Given the description of an element on the screen output the (x, y) to click on. 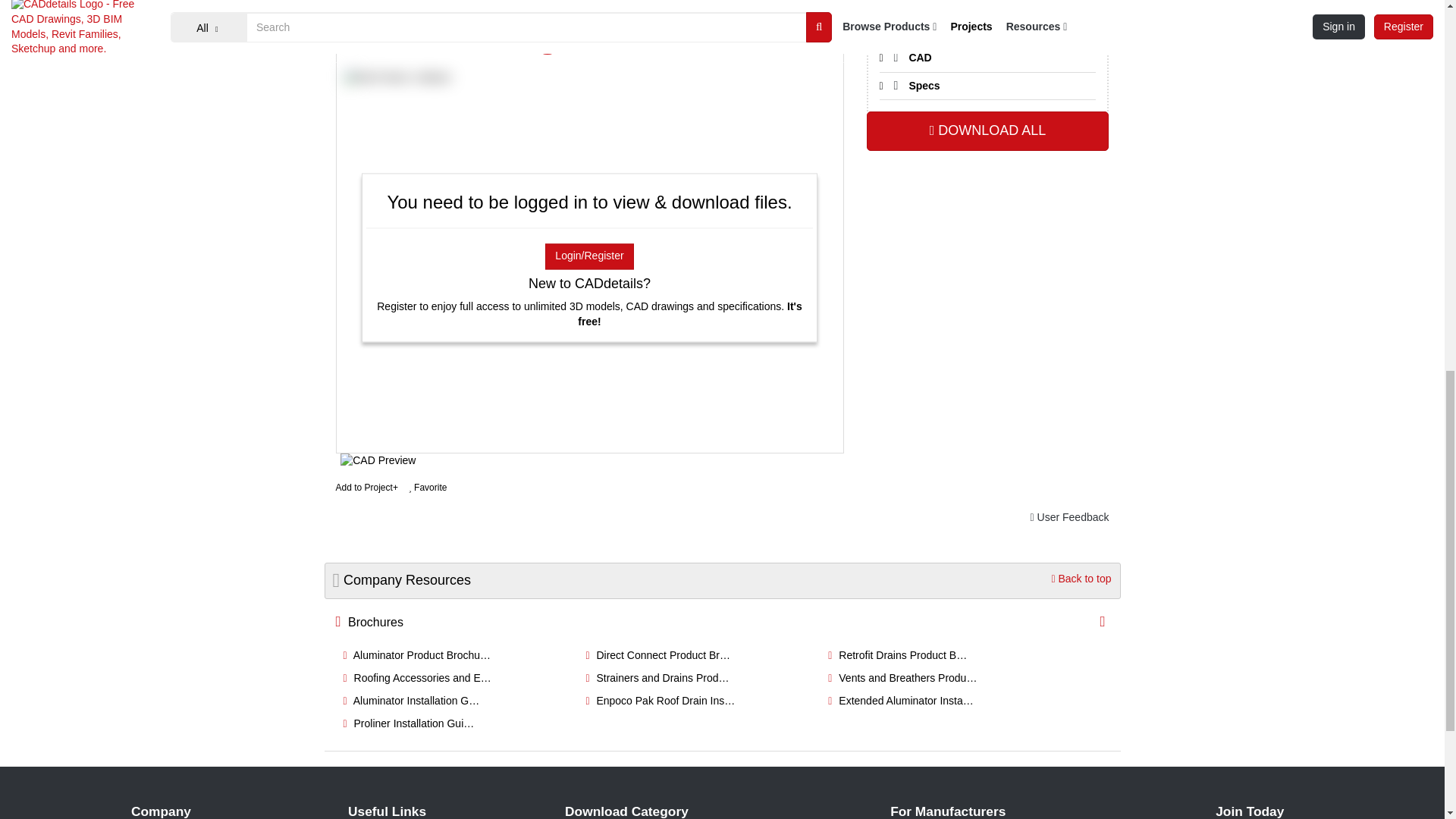
Retrofit Drains Product Brochure  (897, 654)
Roofing Accessories and Equipment Product Brochure (416, 677)
Aluminator Product Brochure (416, 654)
Strainers and Drains Product Brochure (657, 677)
Direct Connect Product Brochure (657, 654)
Vents and Breathers Product Brochure  (902, 677)
